Given the description of an element on the screen output the (x, y) to click on. 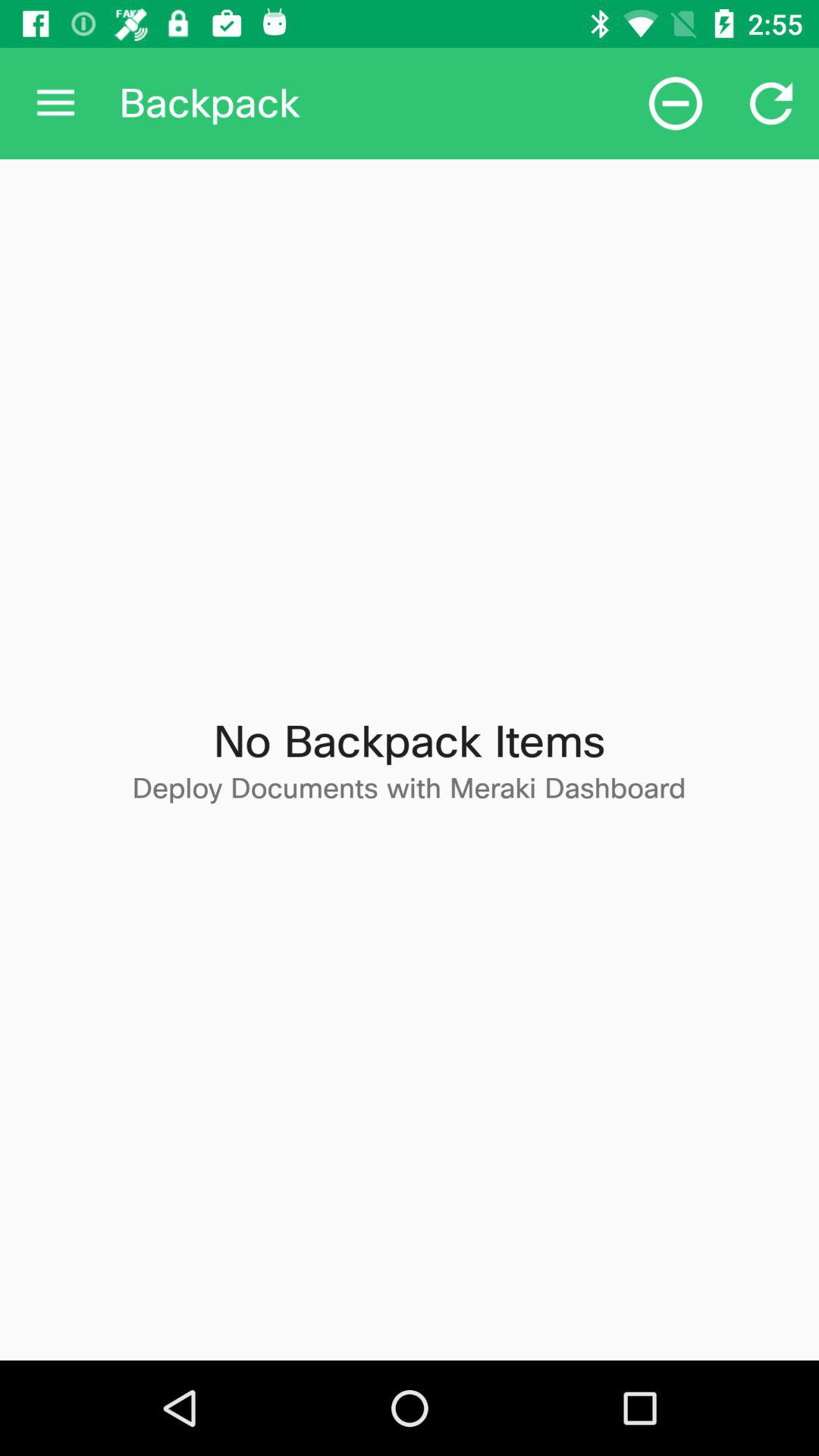
press the item above deploy documents with item (675, 103)
